Given the description of an element on the screen output the (x, y) to click on. 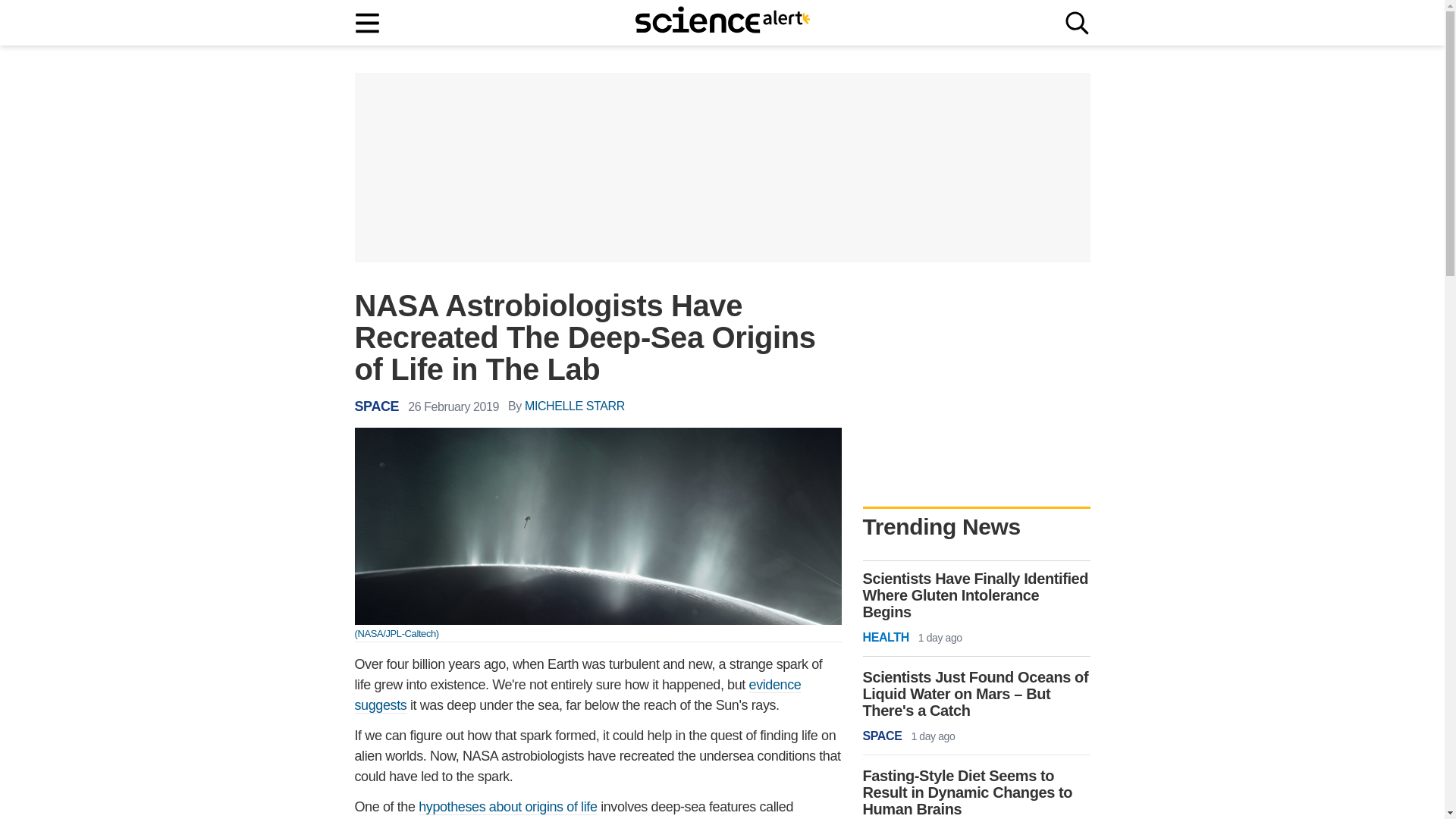
SPACE (376, 406)
evidence suggests (578, 695)
hypotheses about origins of life (507, 806)
MICHELLE STARR (574, 405)
